Given the description of an element on the screen output the (x, y) to click on. 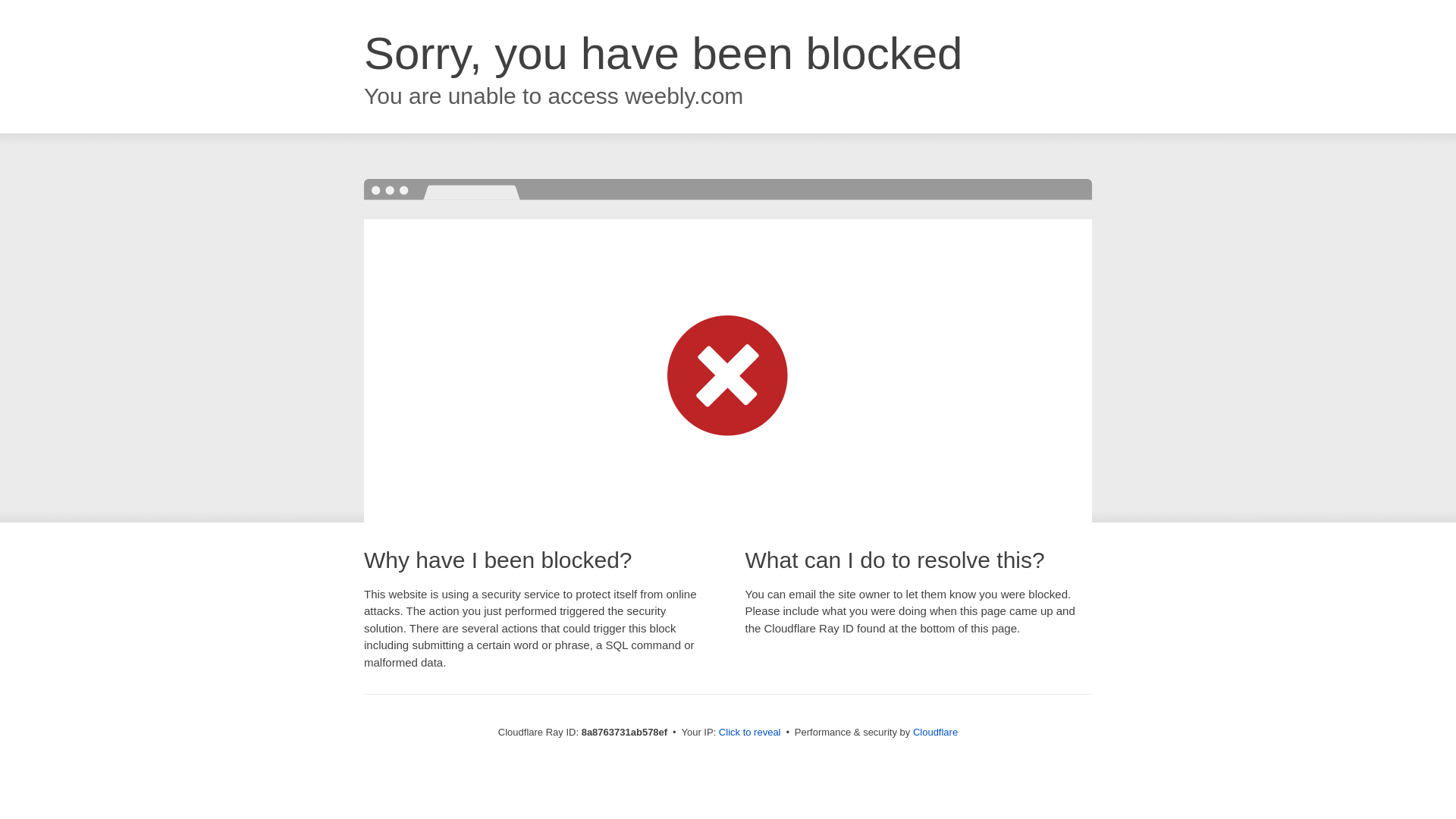
Cloudflare (935, 731)
Click to reveal (749, 732)
